Given the description of an element on the screen output the (x, y) to click on. 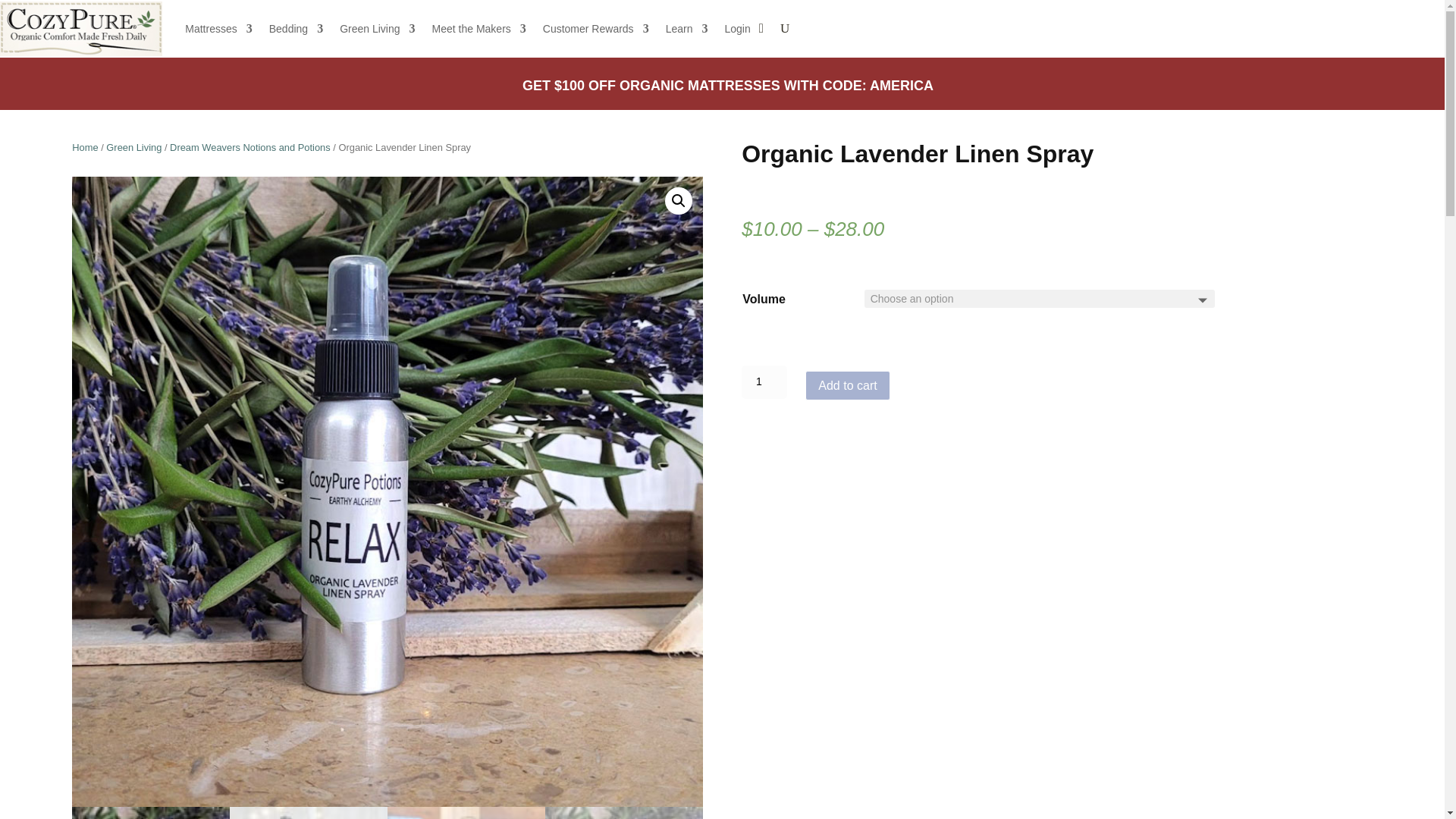
Meet the Makers (478, 28)
Customer Rewards (596, 28)
Mattresses (217, 28)
1 (764, 381)
Green Living (376, 28)
Bedding (296, 28)
PayPal Message 1 (977, 413)
